Given the description of an element on the screen output the (x, y) to click on. 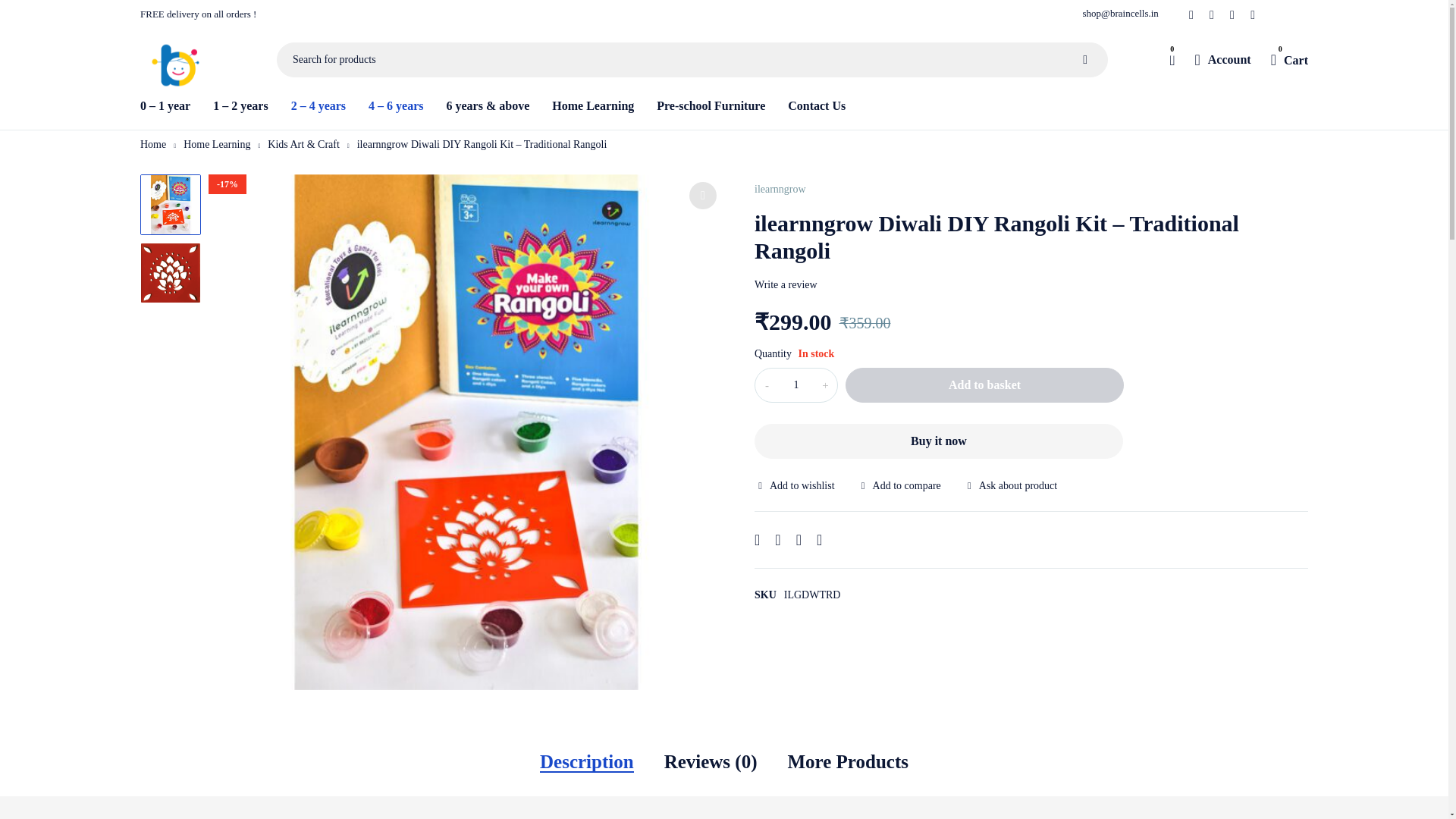
Buy it now (938, 441)
1 (796, 384)
BrainCells (177, 70)
My Account (1222, 59)
ilearnngrow (780, 189)
Account (1222, 59)
Contact Us (816, 105)
Home Learning (592, 105)
Ask about product (1010, 485)
Compare (898, 485)
